Given the description of an element on the screen output the (x, y) to click on. 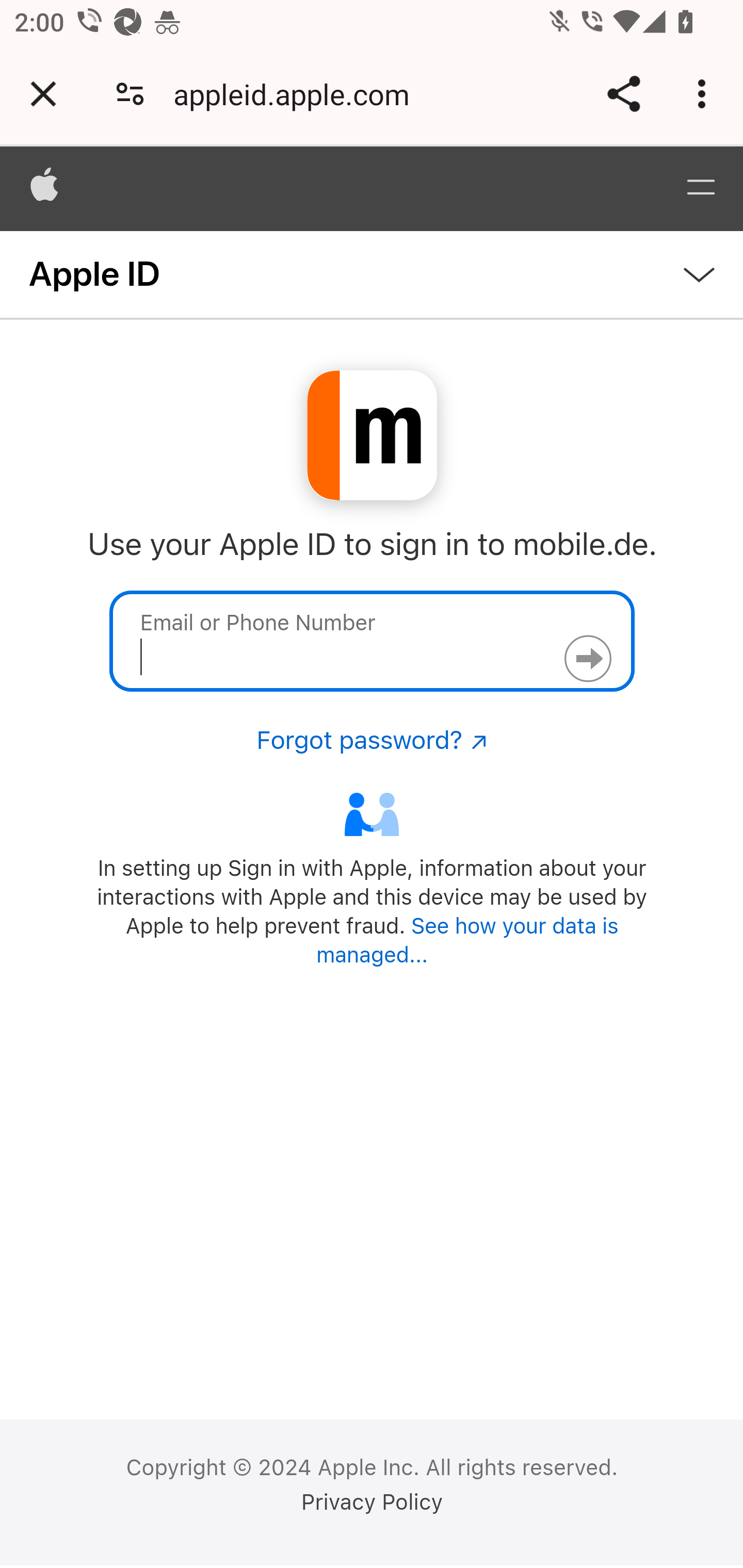
Close tab (43, 93)
Share (623, 93)
Customize and control Google Chrome (705, 93)
Connection is secure (129, 93)
appleid.apple.com (298, 93)
Apple (45, 188)
Menu (700, 188)
Continue (586, 658)
Privacy Policy (371, 1502)
